Given the description of an element on the screen output the (x, y) to click on. 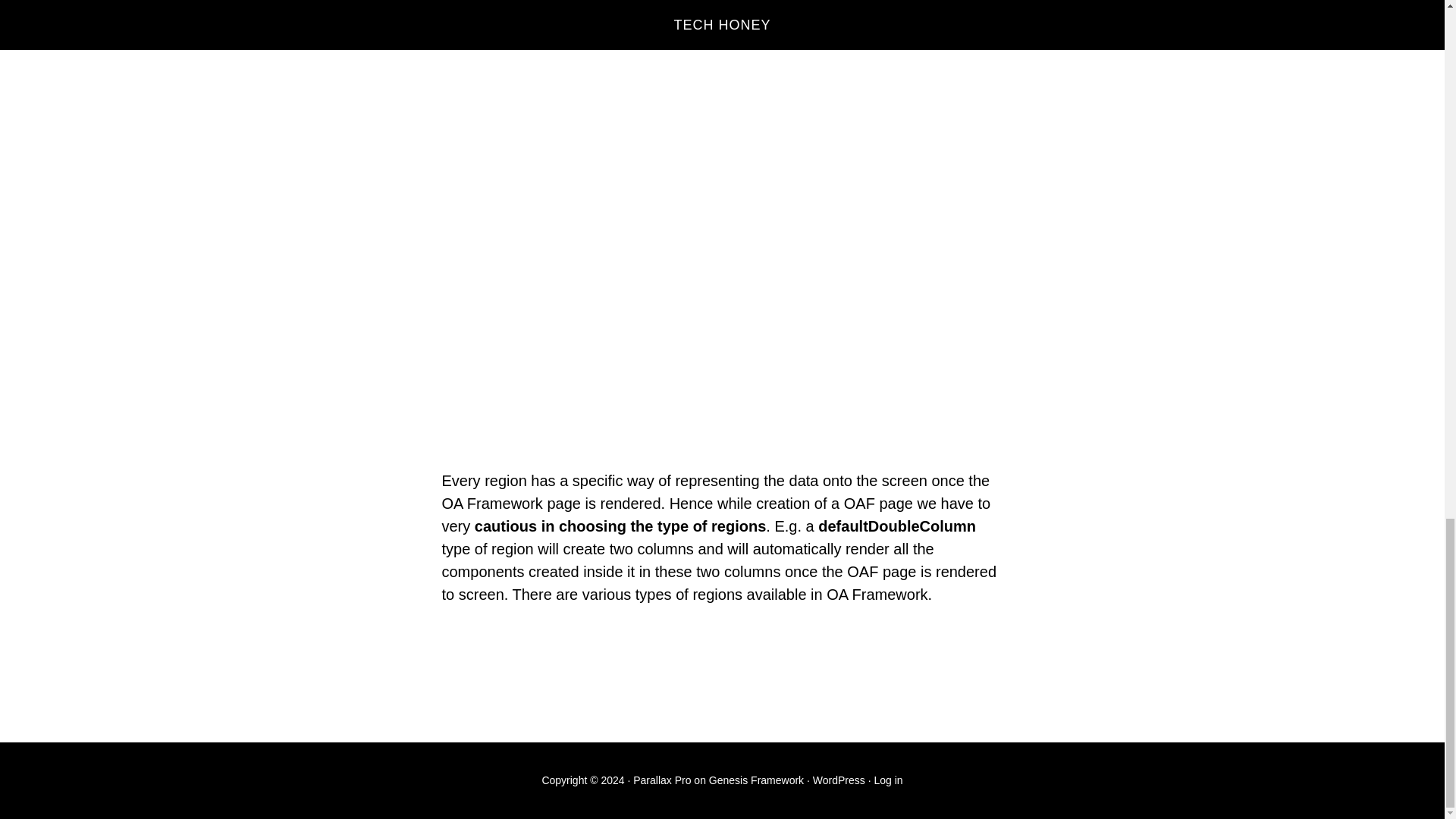
Genesis Framework (756, 779)
Parallax Pro (661, 779)
WordPress (838, 779)
Log in (887, 779)
